Given the description of an element on the screen output the (x, y) to click on. 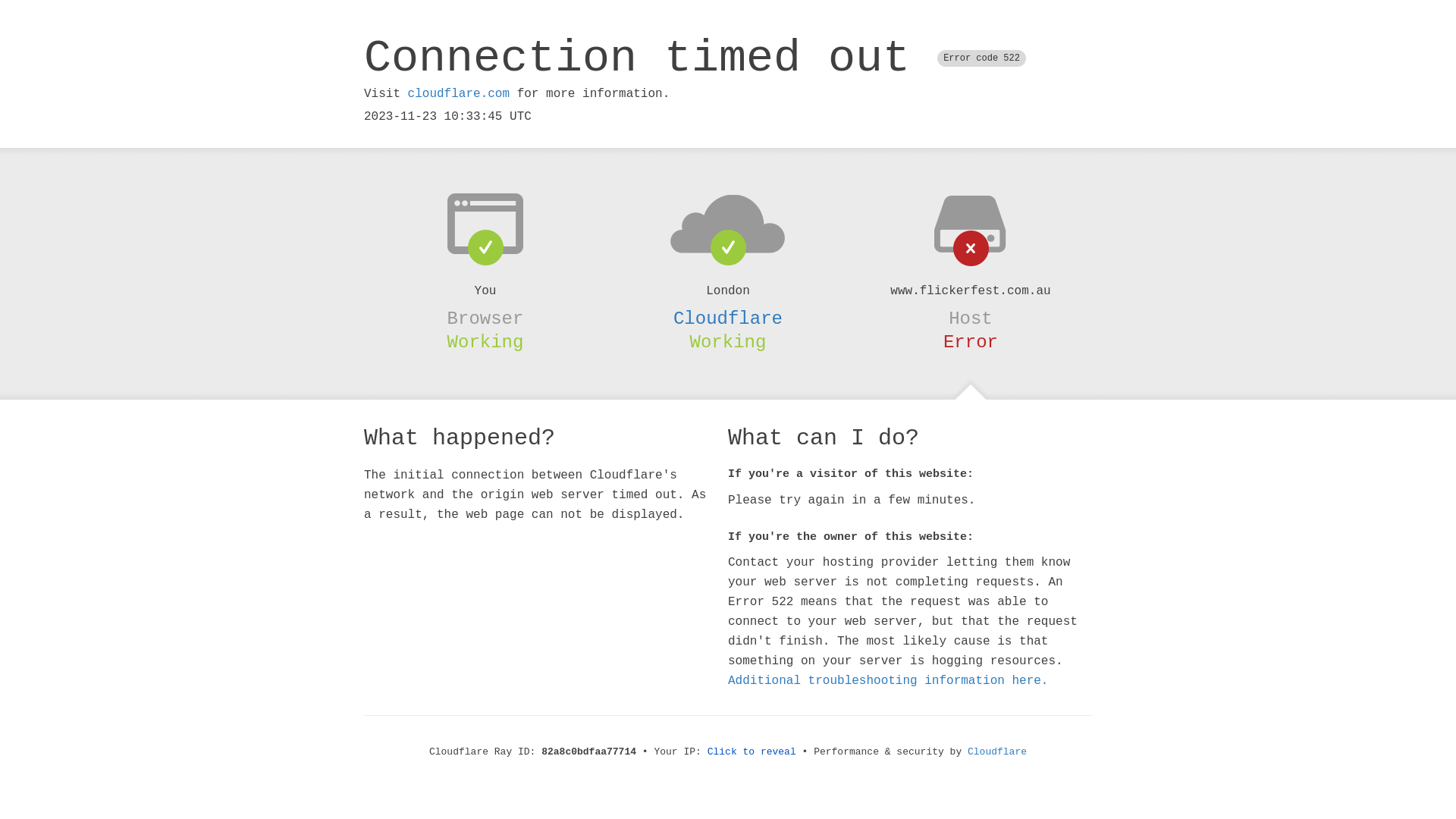
cloudflare.com Element type: text (458, 93)
Cloudflare Element type: text (996, 751)
Additional troubleshooting information here. Element type: text (888, 680)
Cloudflare Element type: text (727, 318)
Click to reveal Element type: text (751, 751)
